Given the description of an element on the screen output the (x, y) to click on. 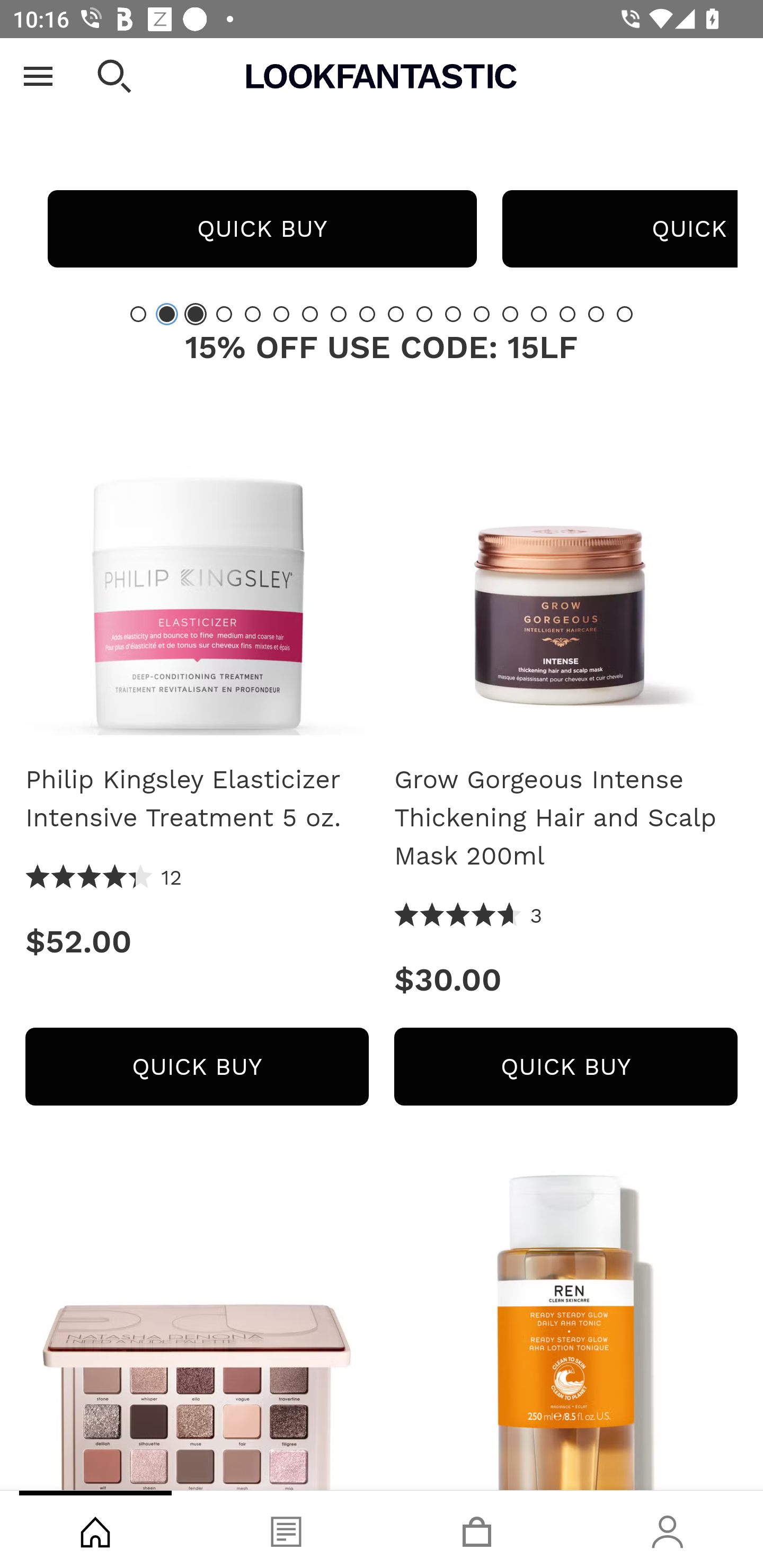
Slide 1 (138, 314)
Showing Slide 2 (Current Item) (166, 314)
Showing Slide 3 (Current Item) (195, 314)
Slide 4 (223, 314)
Slide 5 (252, 314)
Slide 6 (281, 314)
Slide 7 (310, 314)
Slide 8 (338, 314)
Slide 9 (367, 314)
Slide 10 (395, 314)
Slide 11 (424, 314)
Slide 12 (452, 314)
Slide 13 (481, 314)
Slide 14 (510, 314)
Slide 15 (539, 314)
Slide 16 (567, 314)
Slide 17 (596, 314)
Slide 18 (624, 314)
4.33 Stars 12 Reviews (104, 877)
4.67 Stars 3 Reviews (468, 916)
Price: $52.00 (196, 941)
Price: $30.00 (565, 979)
Natasha Denona I Need A Nude Palette (196, 1329)
Shop, tab, 1 of 4 (95, 1529)
Blog, tab, 2 of 4 (285, 1529)
Basket, tab, 3 of 4 (476, 1529)
Account, tab, 4 of 4 (667, 1529)
